Given the description of an element on the screen output the (x, y) to click on. 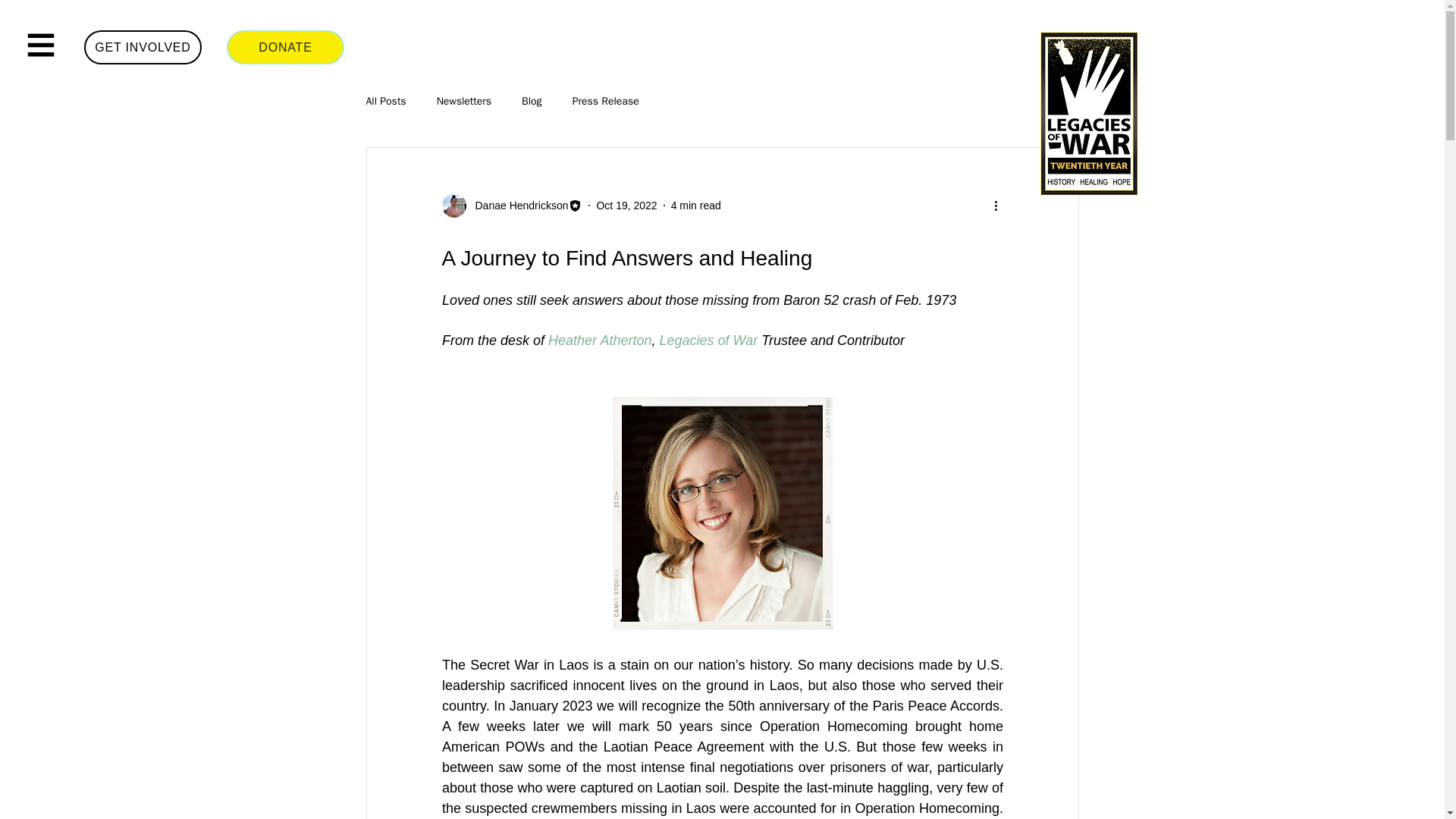
Legacies of War Logo.png (1088, 114)
Danae Hendrickson (511, 205)
4 min read (695, 204)
Danae Hendrickson (516, 204)
Oct 19, 2022 (625, 204)
Newsletters (464, 101)
DONATE (285, 47)
Legacies of War (708, 340)
Press Release (605, 101)
Blog (531, 101)
Heather Atherton (599, 340)
All Posts (385, 101)
GET INVOLVED (143, 47)
